Given the description of an element on the screen output the (x, y) to click on. 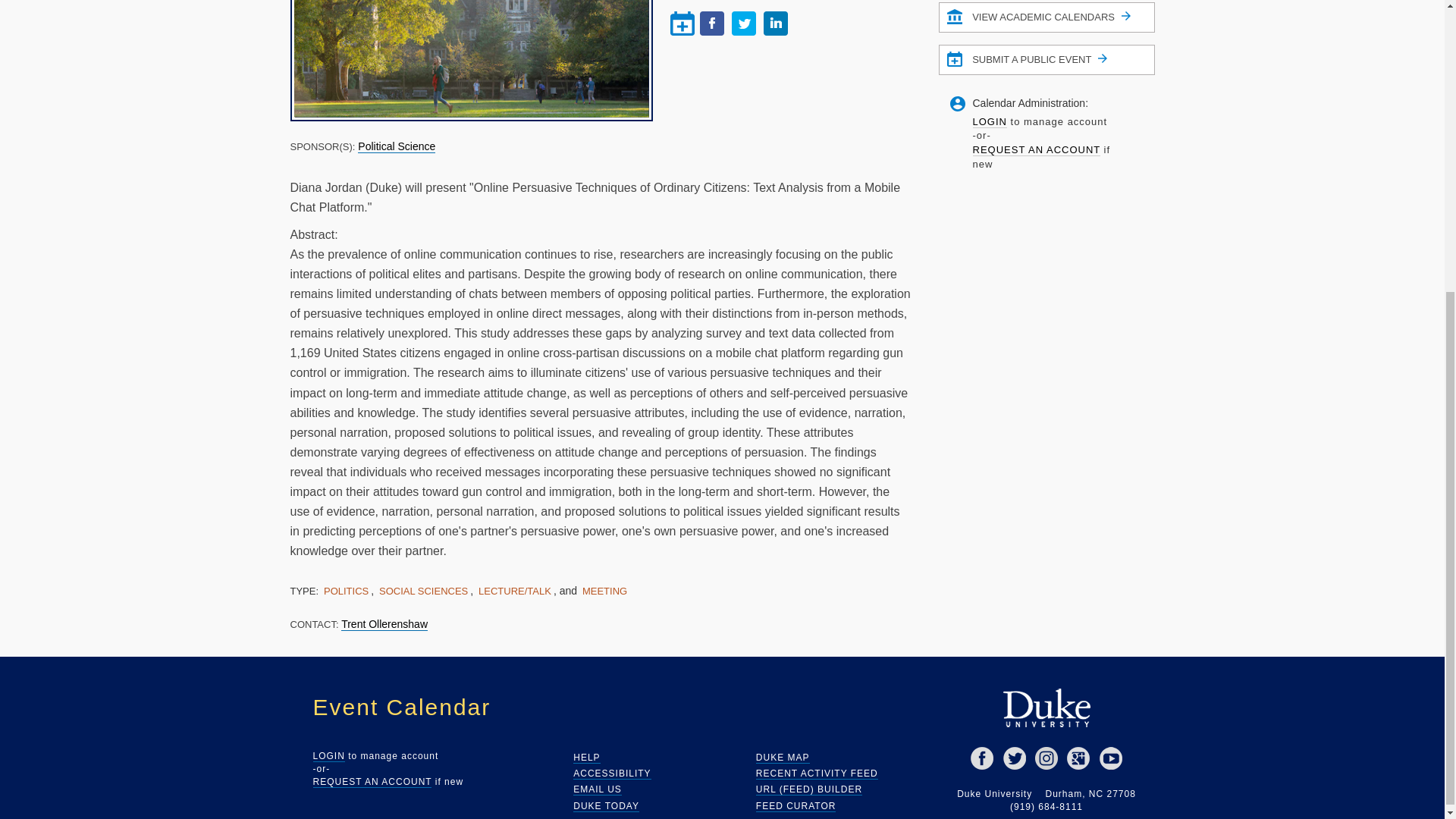
MEETING (603, 590)
Political Science (396, 146)
Event Image (470, 59)
SOCIAL SCIENCES (423, 590)
Trent Ollerenshaw (384, 624)
POLITICS (346, 590)
